Given the description of an element on the screen output the (x, y) to click on. 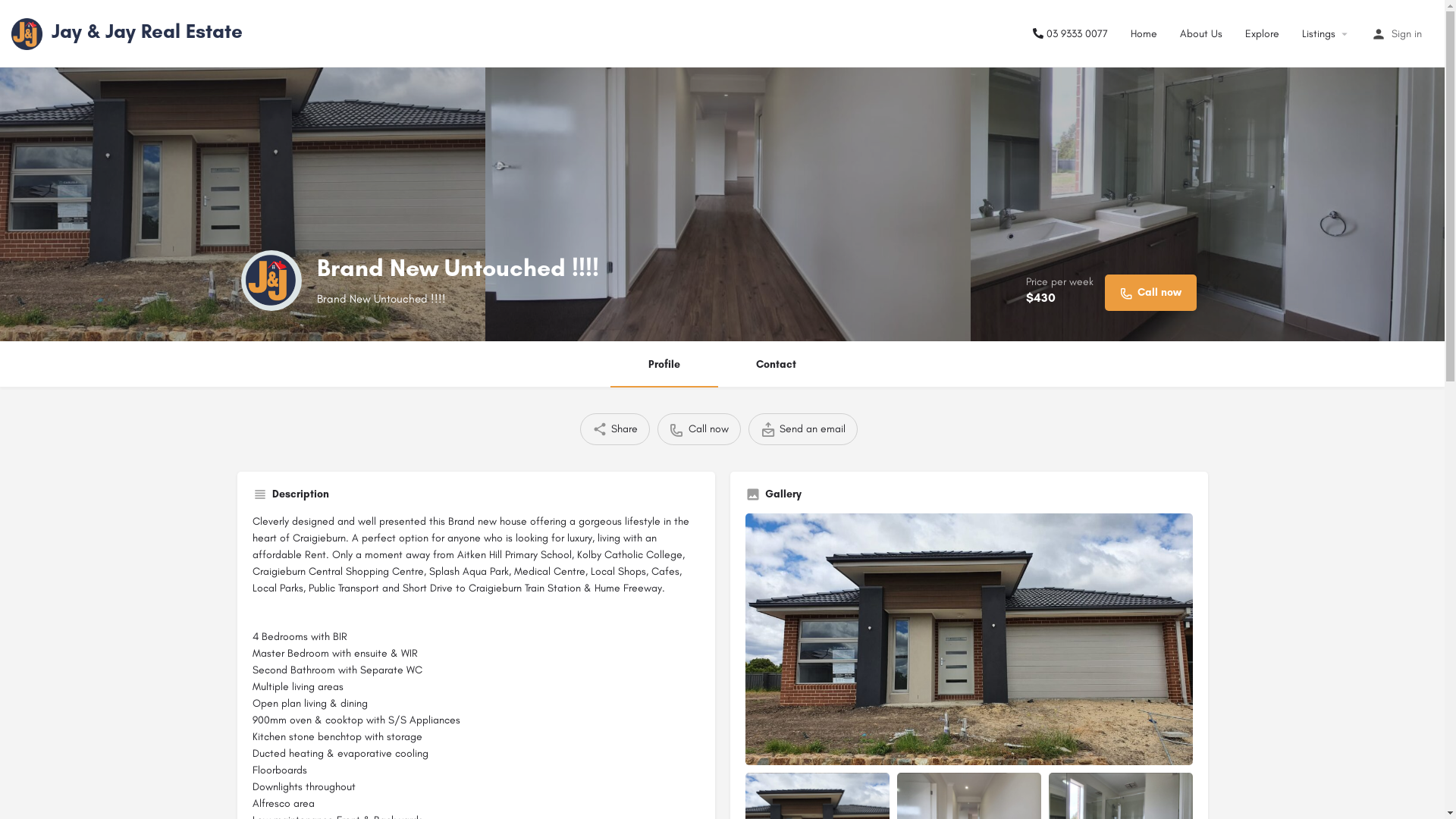
Contact Element type: text (776, 364)
01.jpg Element type: hover (242, 170)
01.jpg Element type: hover (968, 639)
Home Element type: text (1143, 32)
About Us Element type: text (1200, 32)
03 9333 0077 Element type: text (1069, 32)
Listings Element type: text (1318, 32)
Explore Element type: text (1262, 32)
02-1.jpg Element type: hover (727, 170)
Profile Element type: text (664, 364)
Sign in Element type: text (1406, 33)
Send an email Element type: text (801, 429)
Share Element type: text (614, 429)
Call now Element type: text (1149, 292)
Call now Element type: text (698, 429)
